Given the description of an element on the screen output the (x, y) to click on. 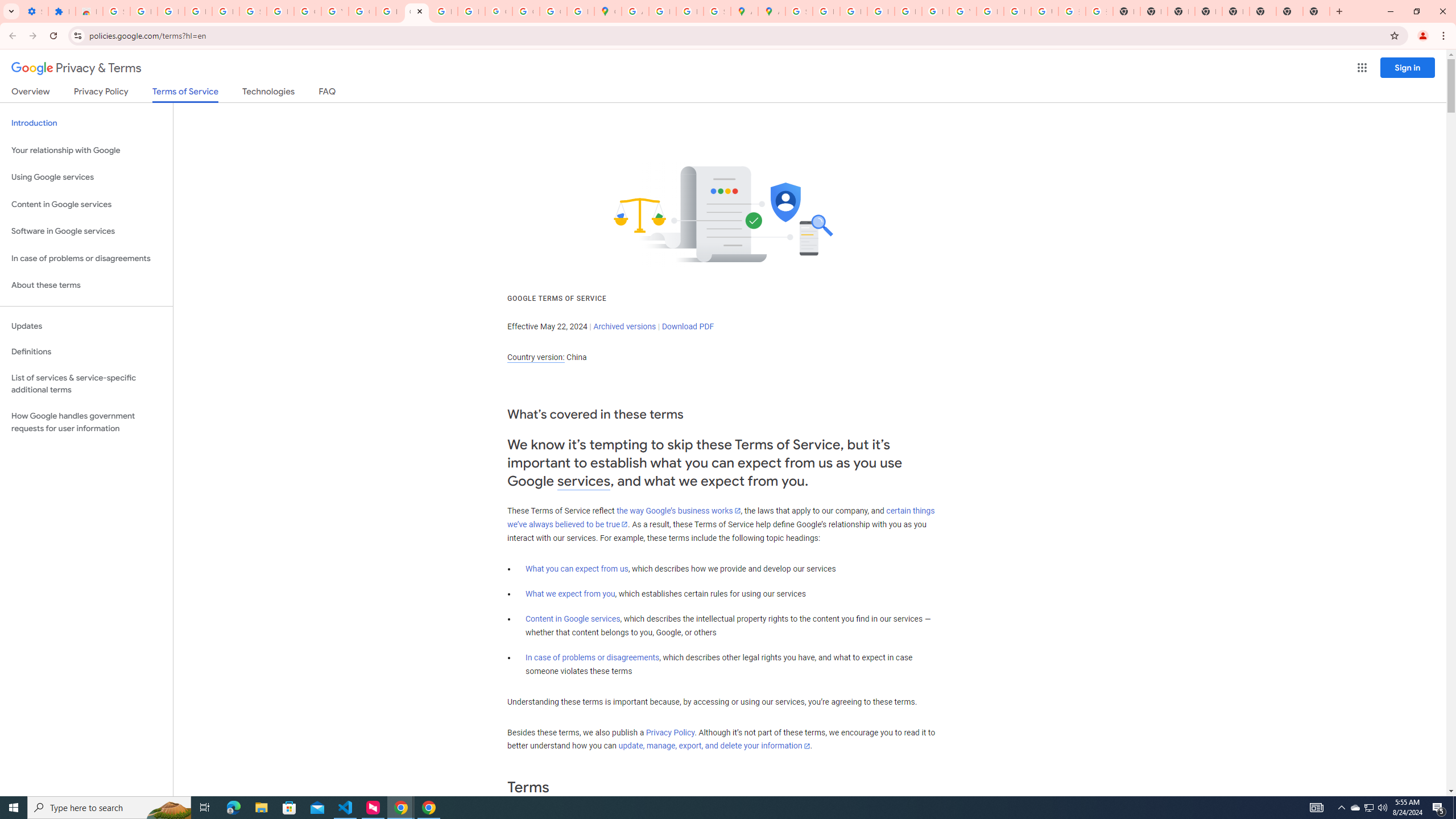
Archived versions (624, 326)
What we expect from you (570, 593)
List of services & service-specific additional terms (86, 383)
How Google handles government requests for user information (86, 422)
update, manage, export, and delete your information (714, 746)
New Tab (1236, 11)
